Given the description of an element on the screen output the (x, y) to click on. 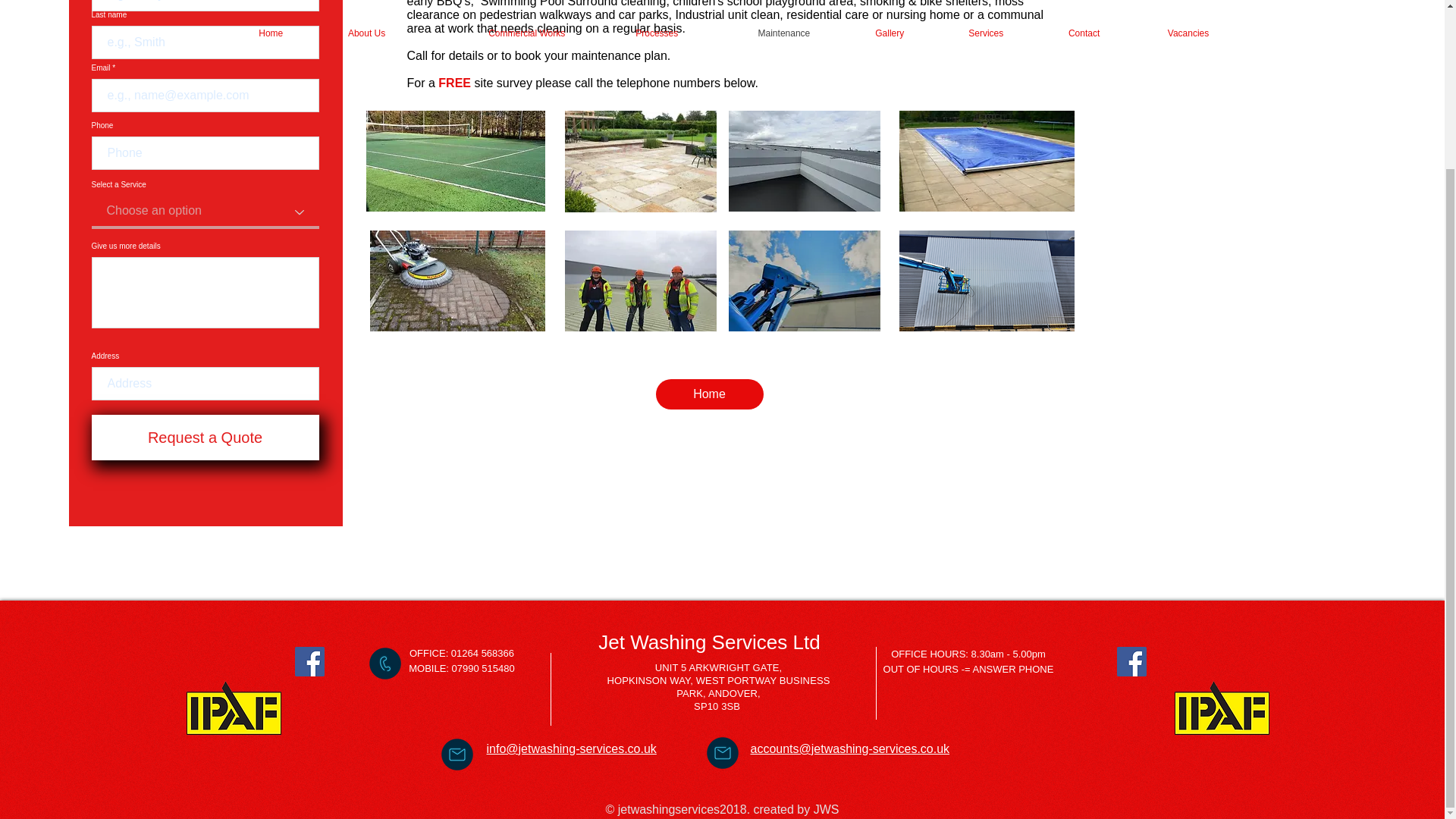
Home (708, 394)
Request a Quote (204, 437)
